Given the description of an element on the screen output the (x, y) to click on. 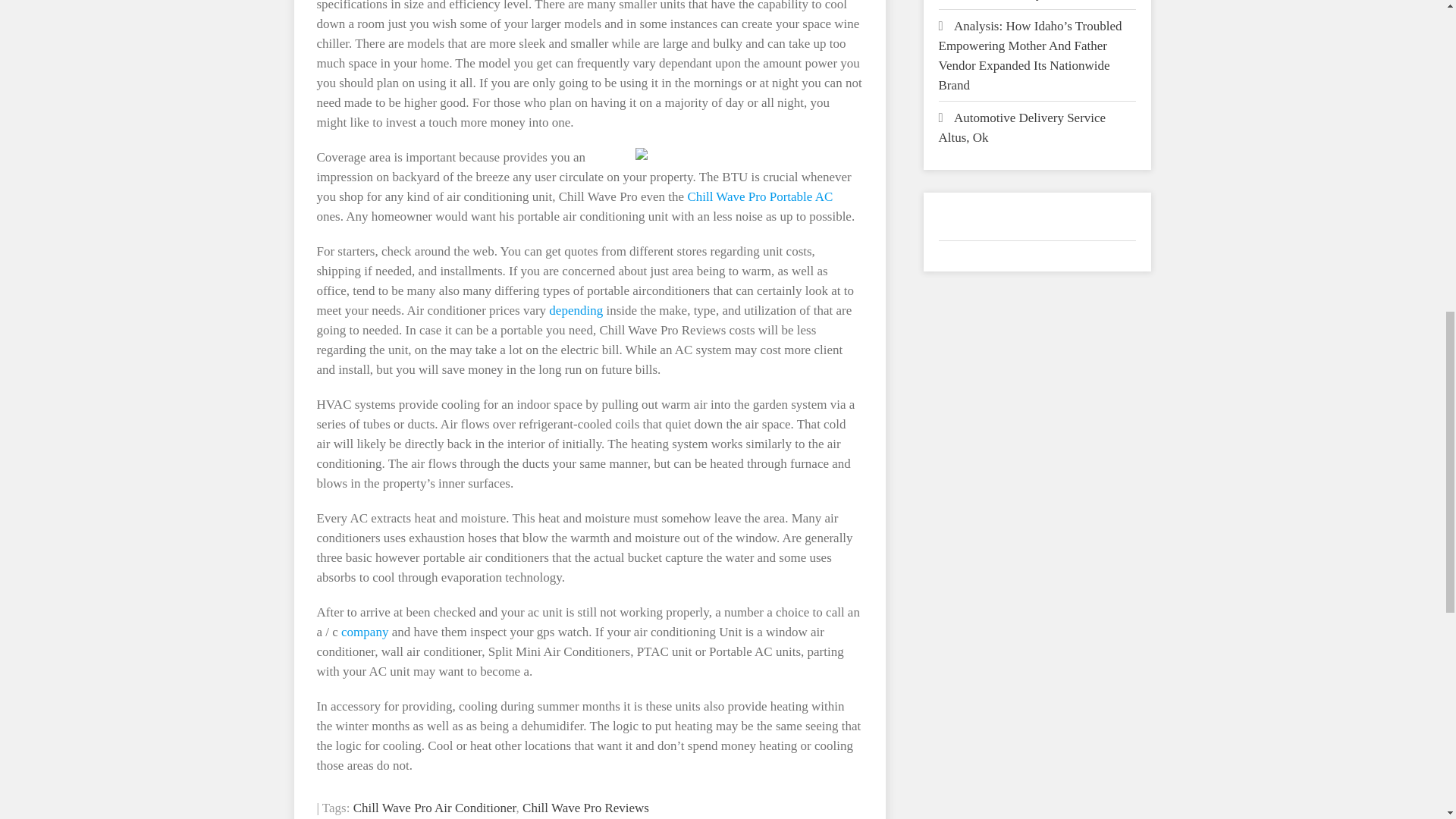
Automotive Delivery Service Altus, Ok (1022, 127)
company (364, 631)
depending (575, 310)
Chill Wave Pro Reviews (585, 807)
Chill Wave Pro Portable AC (759, 196)
Chill Wave Pro Air Conditioner (434, 807)
